Given the description of an element on the screen output the (x, y) to click on. 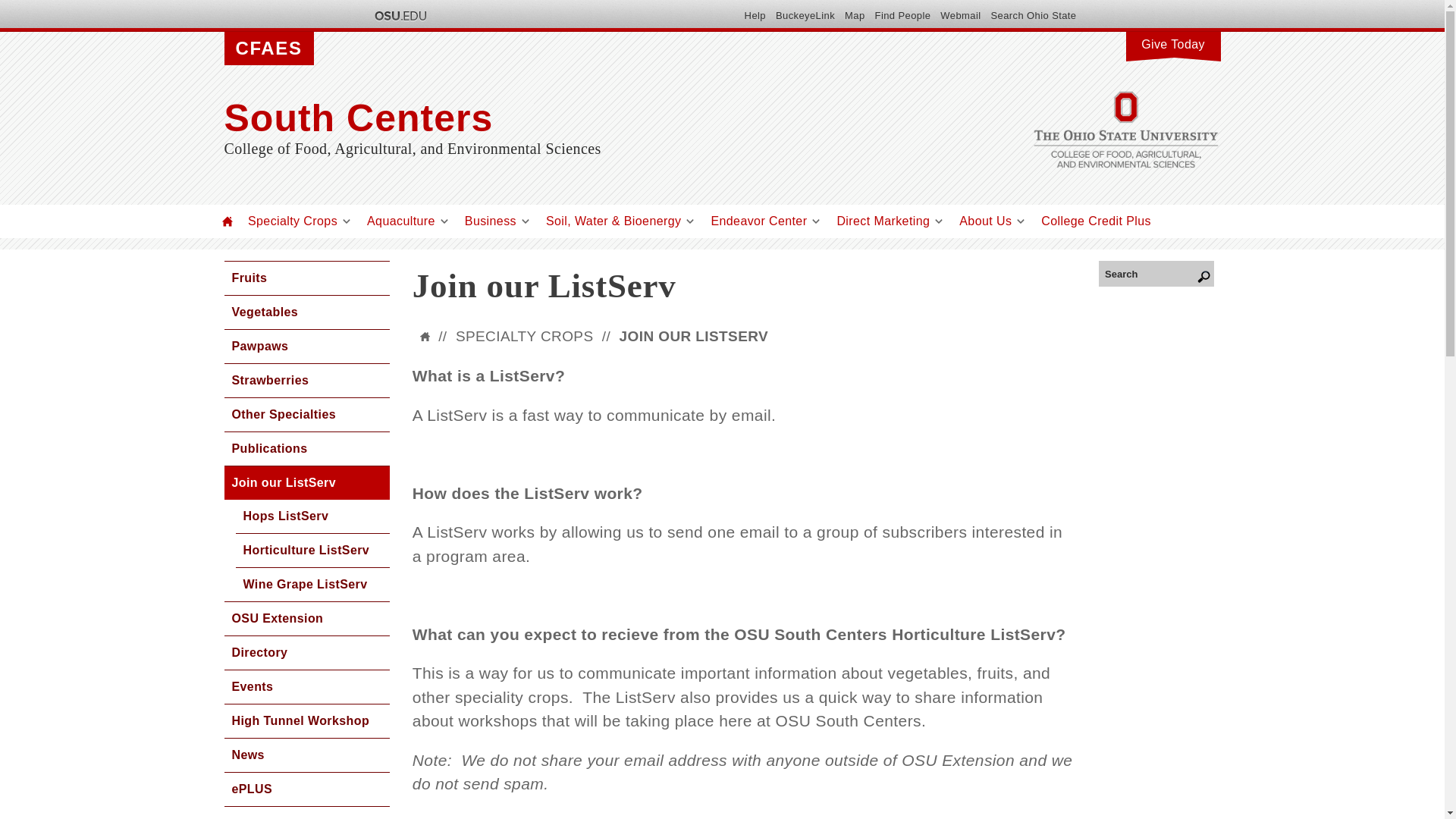
Give Today (1172, 42)
Find People (903, 15)
CFAES (269, 48)
Map (854, 15)
Search Ohio State (1032, 15)
The Ohio State University (399, 15)
Help (754, 15)
Specialty Crops (292, 221)
Home (226, 221)
Skip to main content (686, 1)
Home (572, 118)
BuckeyeLink (805, 15)
South Centers (572, 118)
Search (1155, 273)
Enter the terms you wish to search for. (1155, 273)
